Given the description of an element on the screen output the (x, y) to click on. 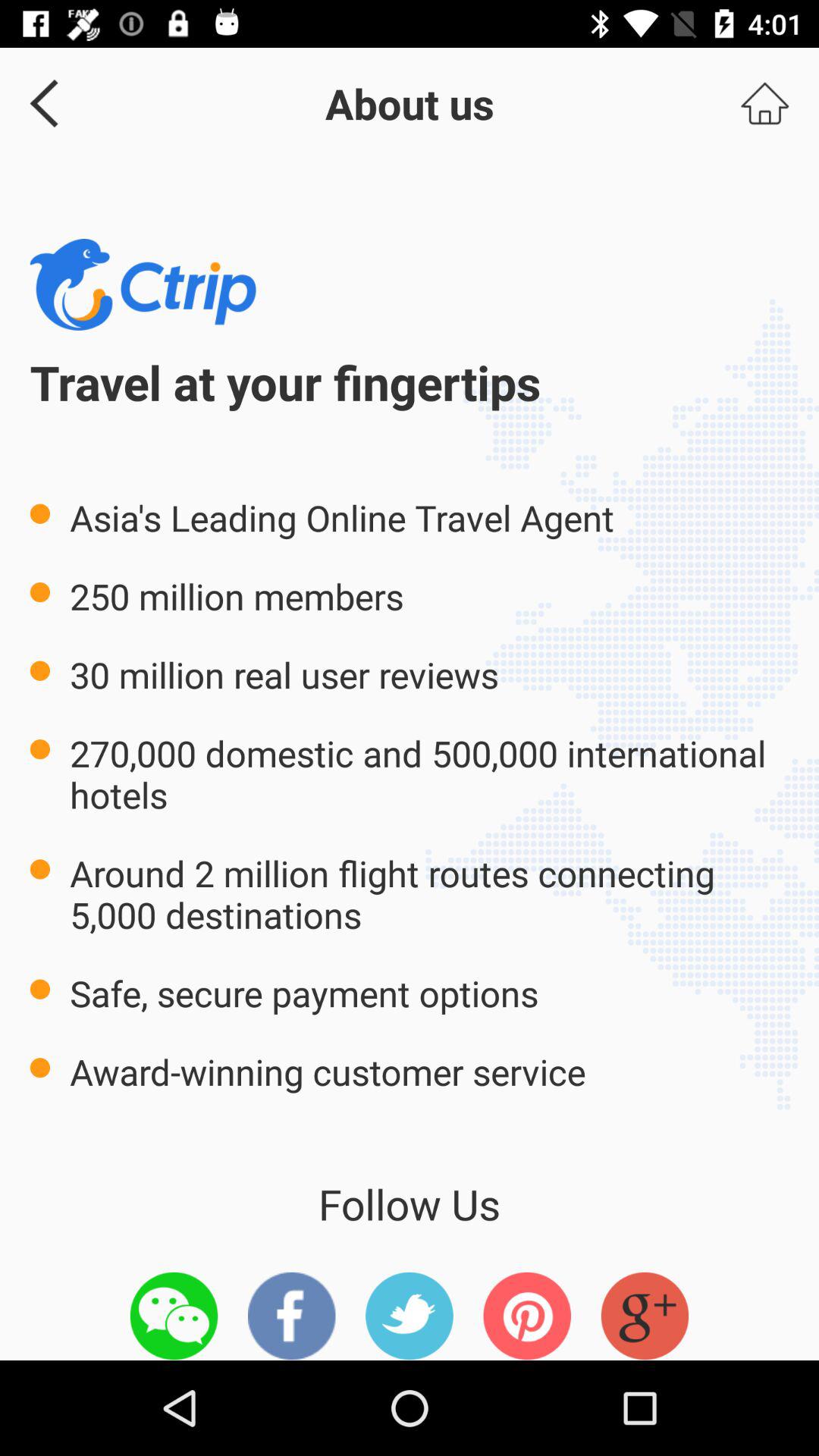
pinterest link (527, 1315)
